Given the description of an element on the screen output the (x, y) to click on. 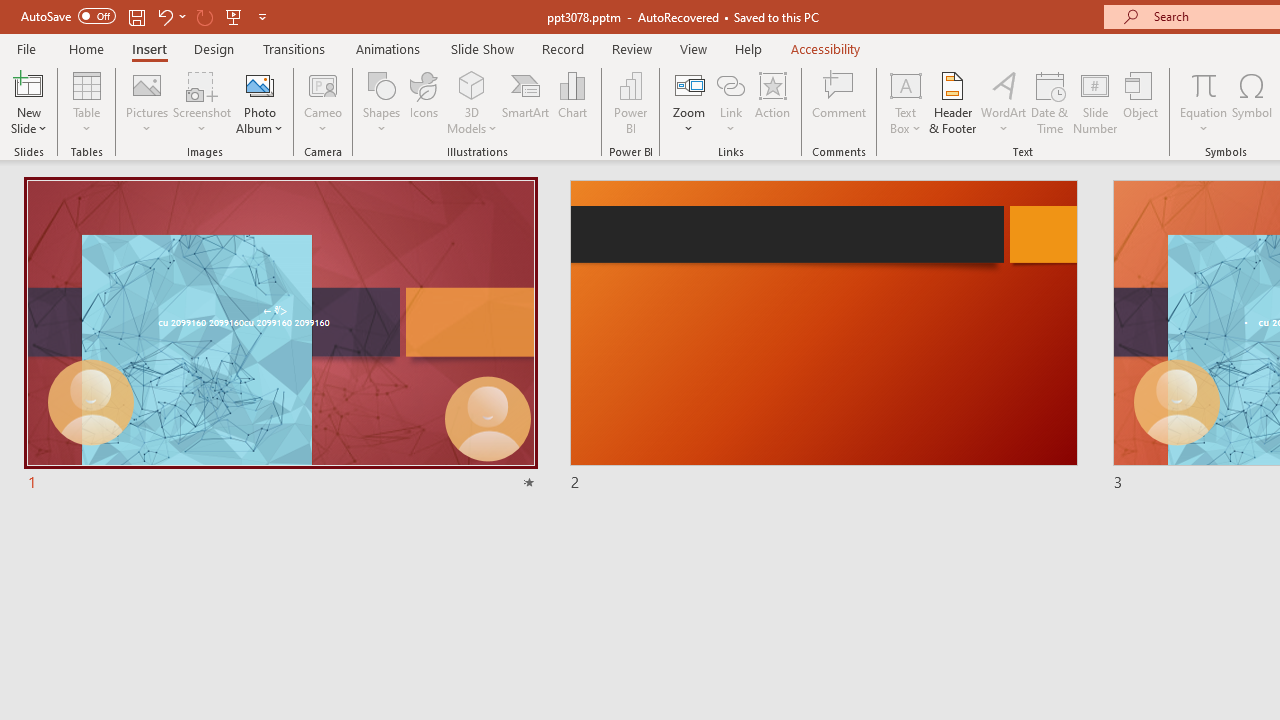
Slide Number (1095, 102)
Photo Album... (259, 102)
SmartArt... (525, 102)
Icons (424, 102)
Comment (839, 102)
Object... (1141, 102)
Link (731, 102)
Date & Time... (1050, 102)
Equation (1203, 102)
